Given the description of an element on the screen output the (x, y) to click on. 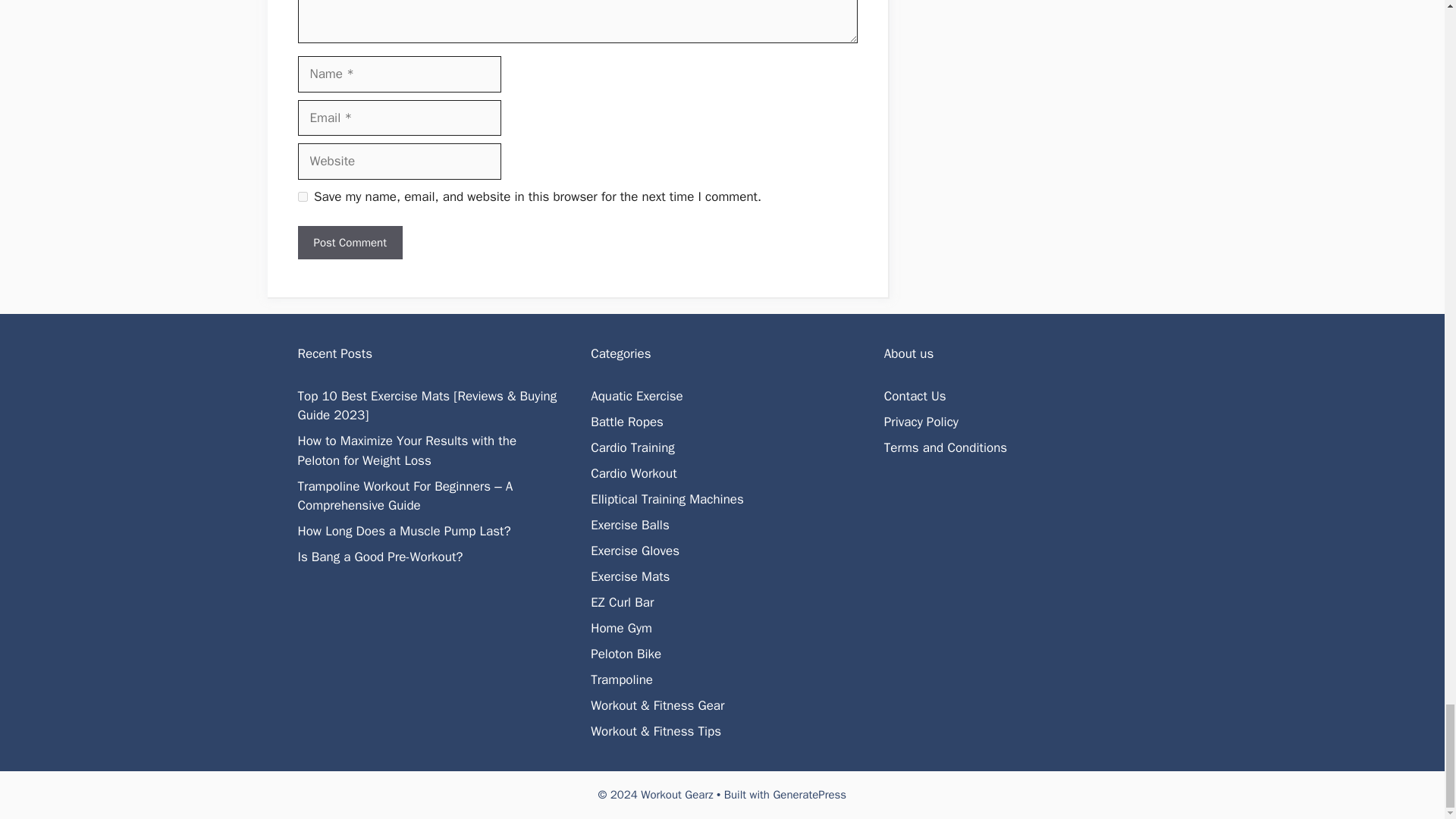
Post Comment (349, 243)
Post Comment (349, 243)
yes (302, 196)
